Given the description of an element on the screen output the (x, y) to click on. 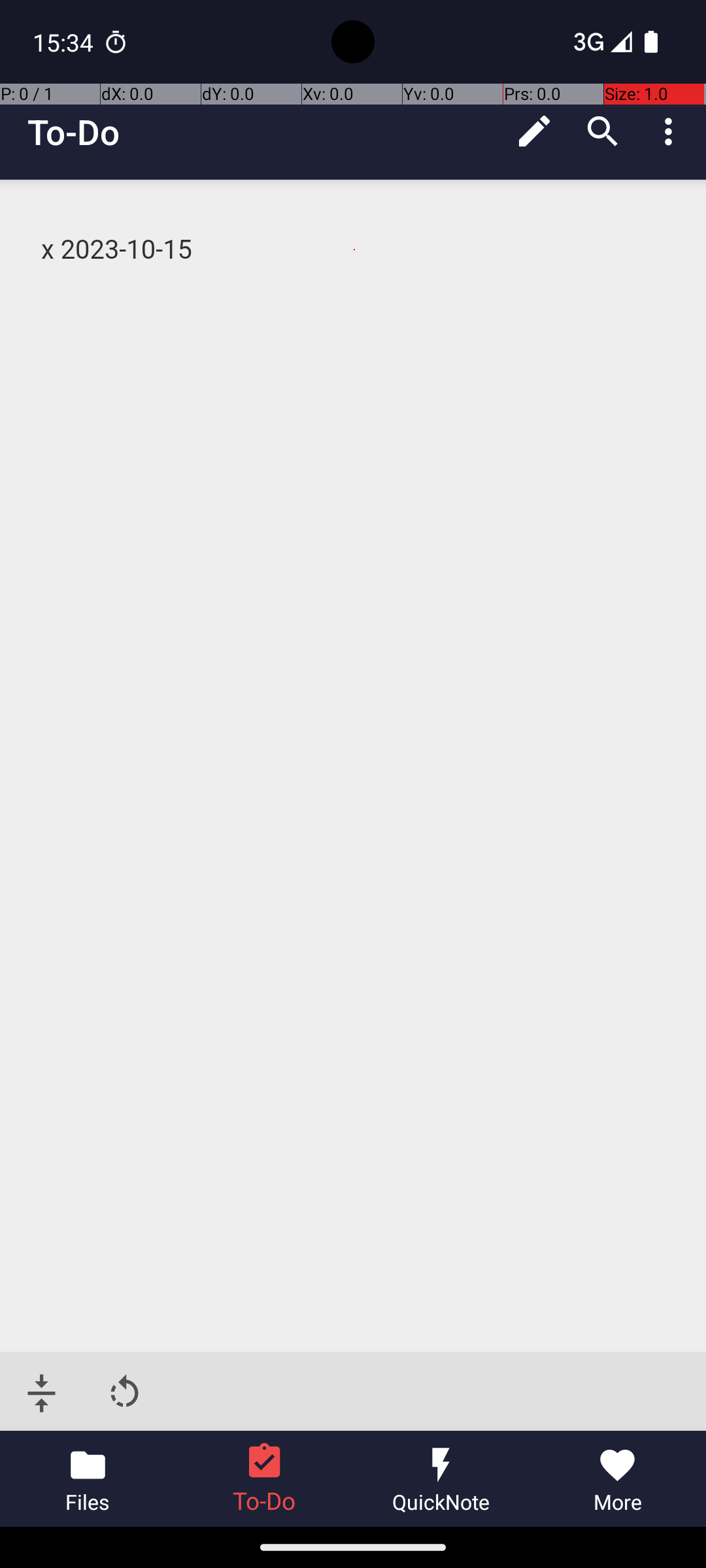
x 2023-10-15  Element type: android.widget.TextView (354, 249)
